Given the description of an element on the screen output the (x, y) to click on. 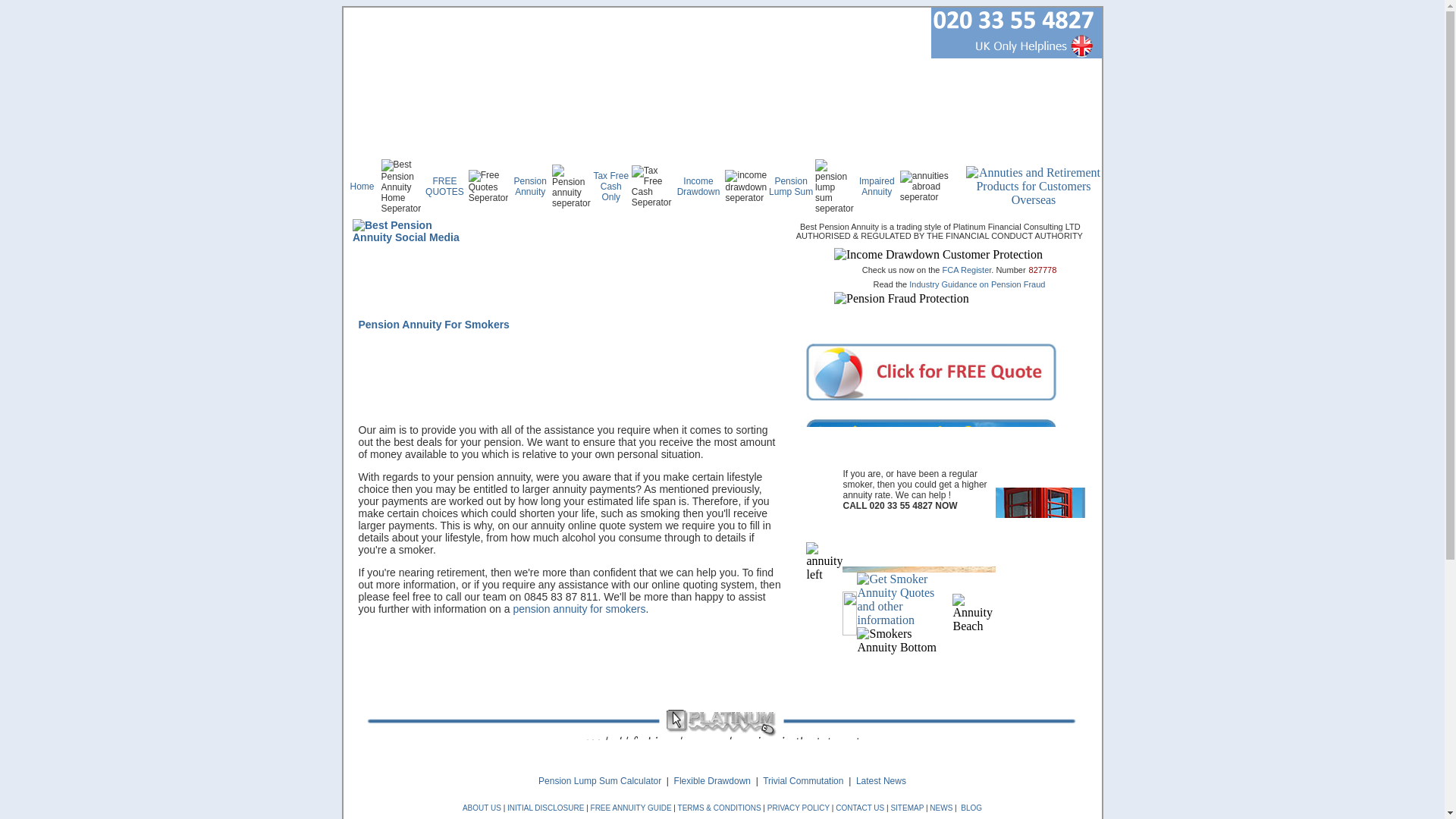
Income Drawdown (698, 186)
FREE ANNUITY GUIDE (631, 807)
CONTACT US (859, 807)
Flexible Drawdown (712, 780)
ABOUT US (481, 807)
Tax Free Cash Only (610, 186)
SITEMAP (907, 807)
Industry Guidance on Pension Fraud (976, 284)
INITIAL DISCLOSURE (544, 807)
Pension Lump Sum Calculator (599, 780)
Pension Annuity (530, 186)
Pension Lump Sum (790, 186)
FCA Register (966, 269)
 BLOG (969, 807)
pension annuity for smokers (578, 608)
